Given the description of an element on the screen output the (x, y) to click on. 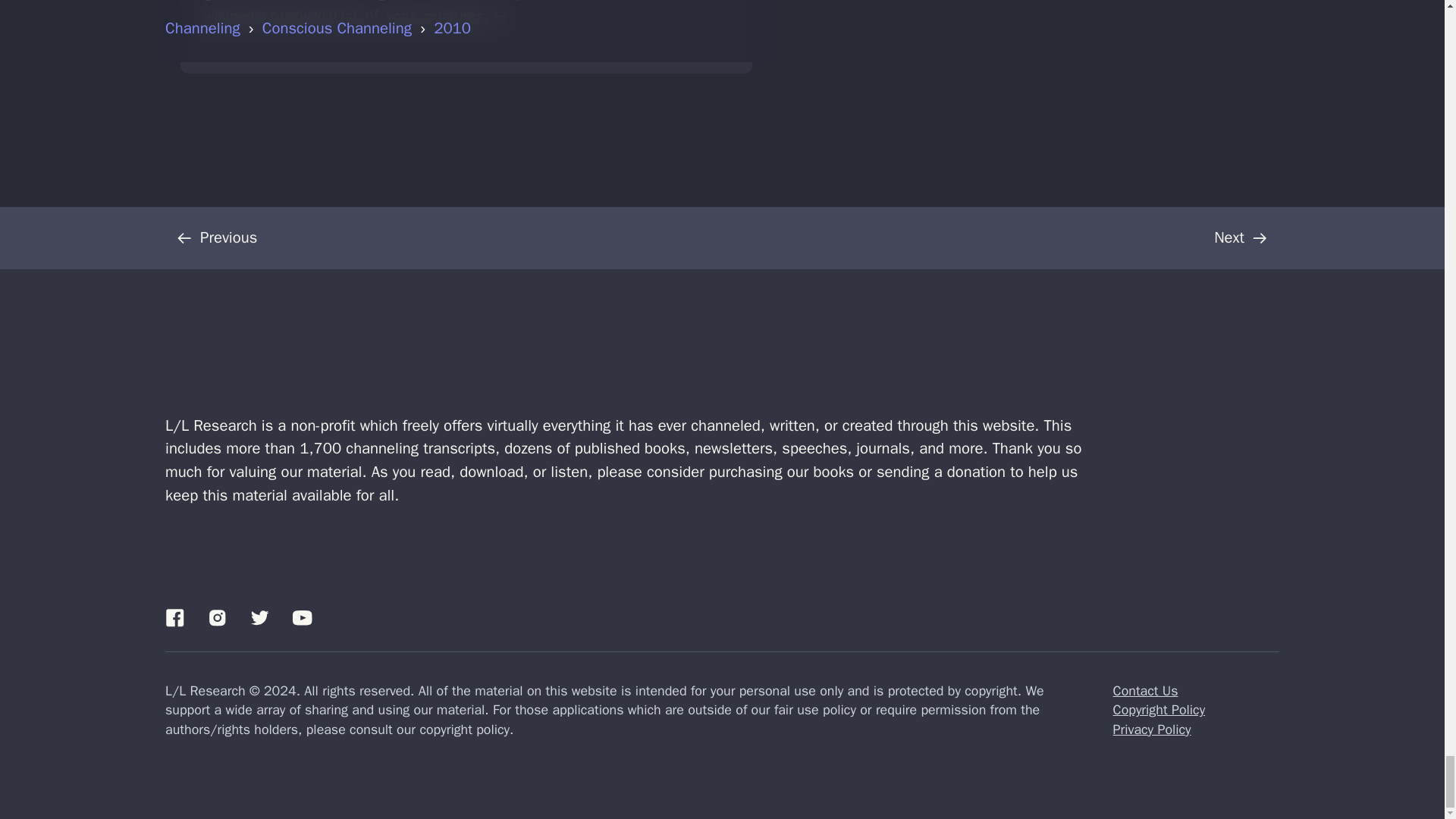
YouTube (301, 617)
Facebook (174, 617)
Twitter (259, 617)
Instagram (217, 617)
